Given the description of an element on the screen output the (x, y) to click on. 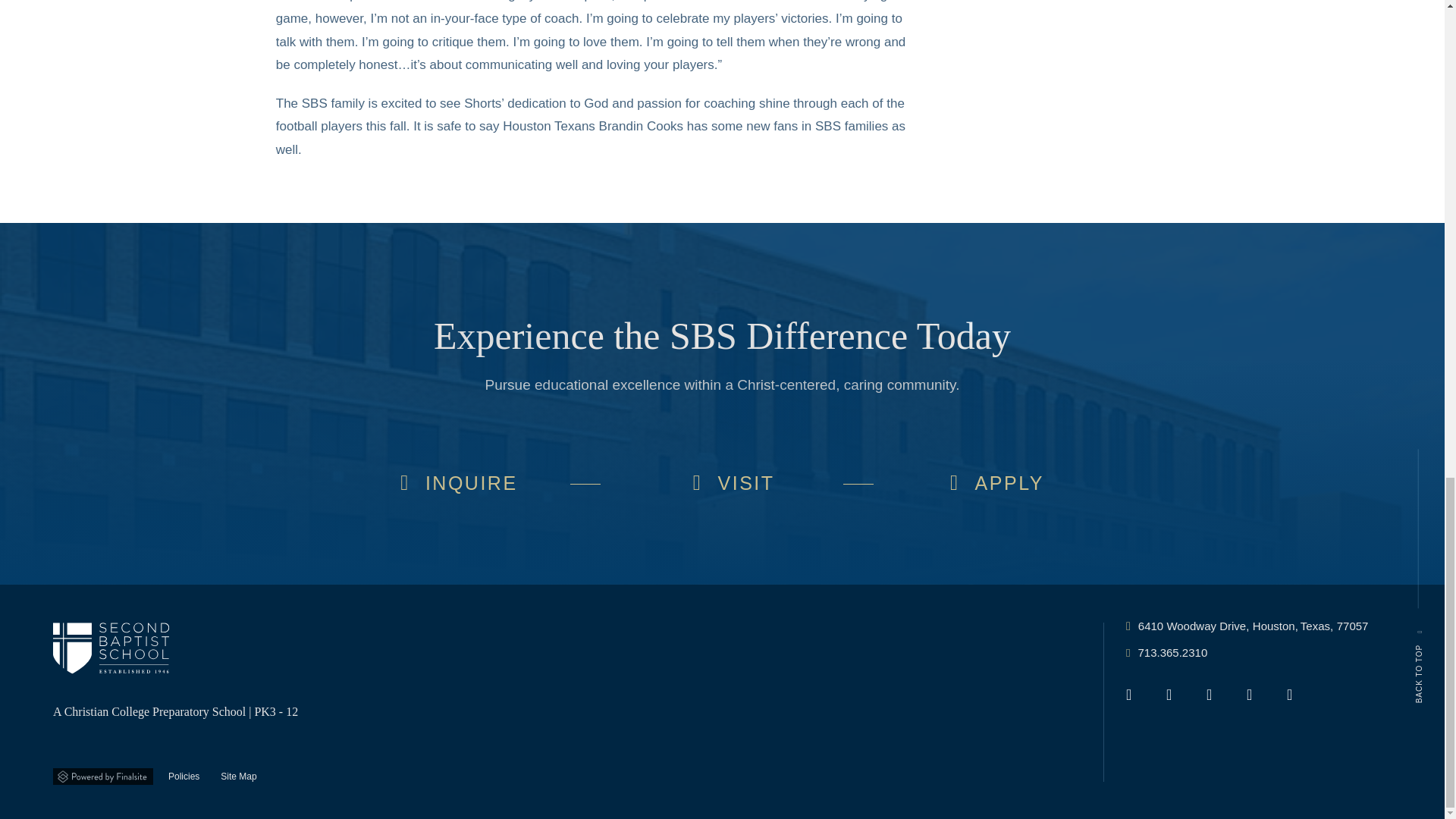
Powered by Finalsite opens in a new window (102, 776)
